Given the description of an element on the screen output the (x, y) to click on. 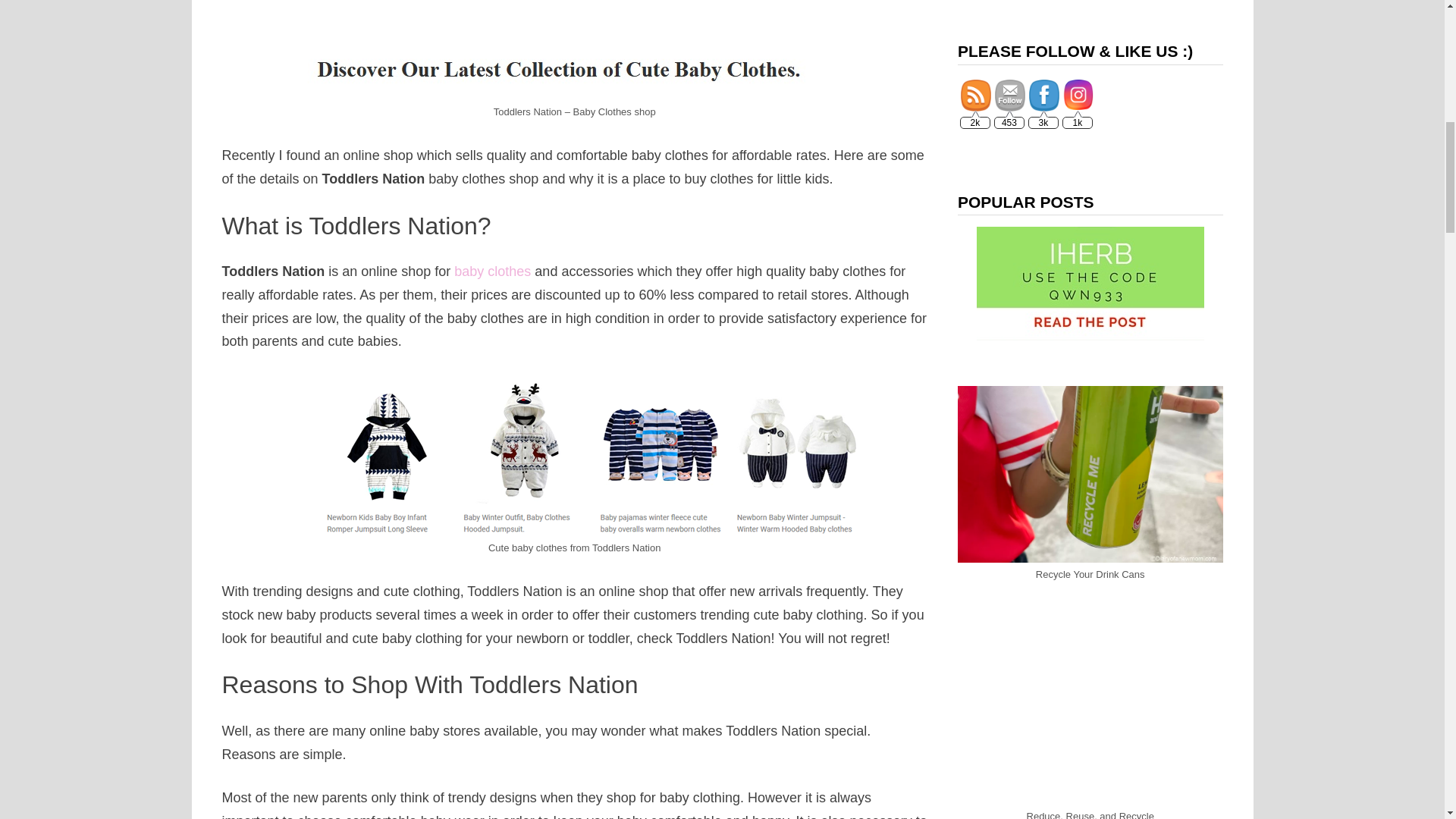
Facebook (1044, 95)
Follow by Email (1009, 95)
baby clothes (492, 271)
Instagram (1077, 94)
RSS (975, 95)
